Given the description of an element on the screen output the (x, y) to click on. 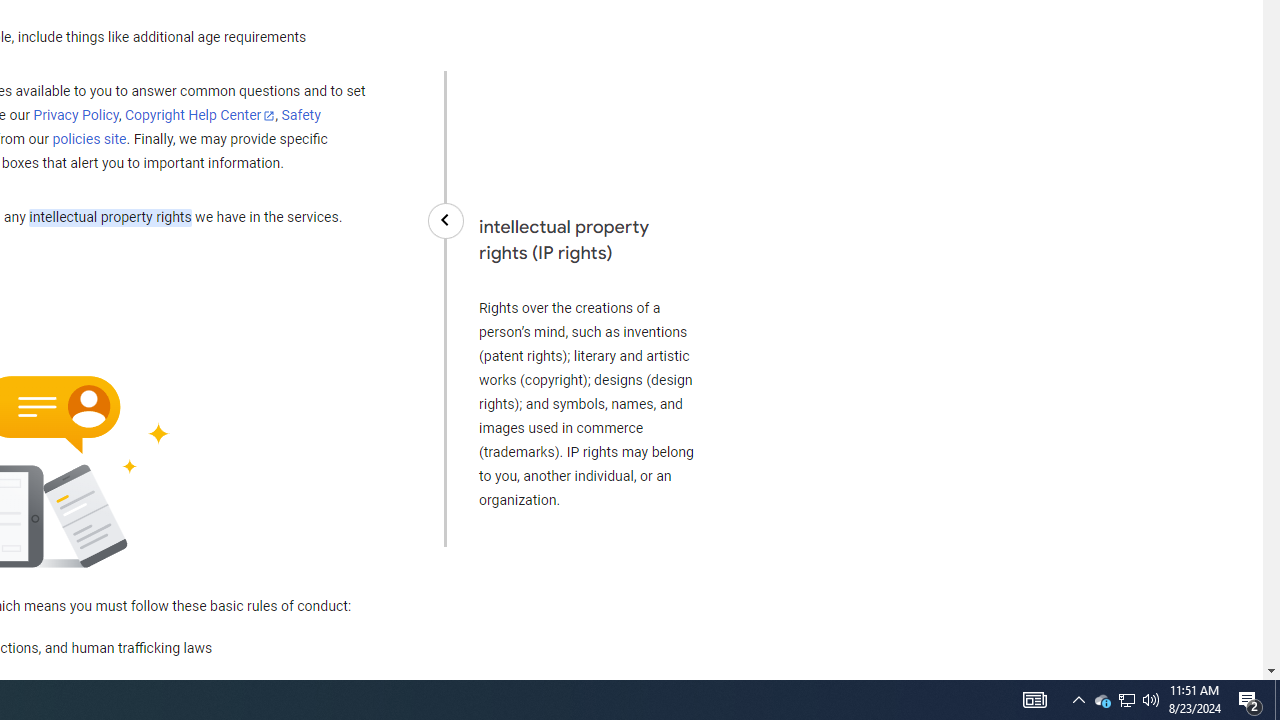
policies site (89, 140)
Copyright Help Center (200, 116)
intellectual property rights (110, 218)
